Given the description of an element on the screen output the (x, y) to click on. 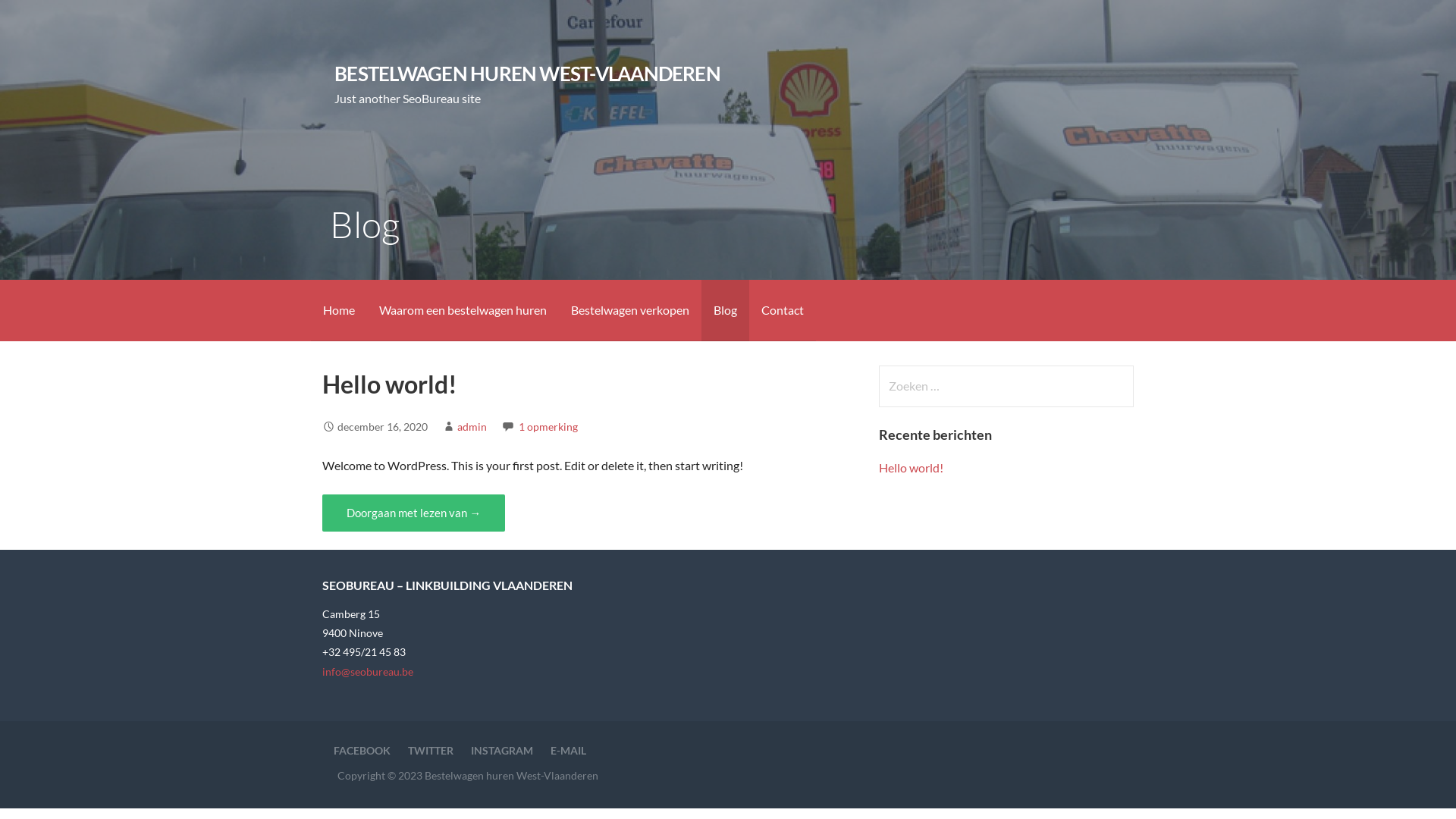
Contact Element type: text (782, 310)
Waarom een bestelwagen huren Element type: text (462, 310)
Hello world! Element type: text (910, 467)
Hello world! Element type: text (389, 383)
admin Element type: text (471, 426)
1 opmerking Element type: text (547, 426)
Zoeken Element type: text (42, 18)
Blog Element type: text (725, 310)
FACEBOOK Element type: text (361, 749)
TWITTER Element type: text (430, 749)
BESTELWAGEN HUREN WEST-VLAANDEREN Element type: text (527, 73)
E-MAIL Element type: text (568, 749)
Home Element type: text (338, 310)
Bestelwagen verkopen Element type: text (629, 310)
INSTAGRAM Element type: text (501, 749)
info@seobureau.be Element type: text (367, 671)
